Given the description of an element on the screen output the (x, y) to click on. 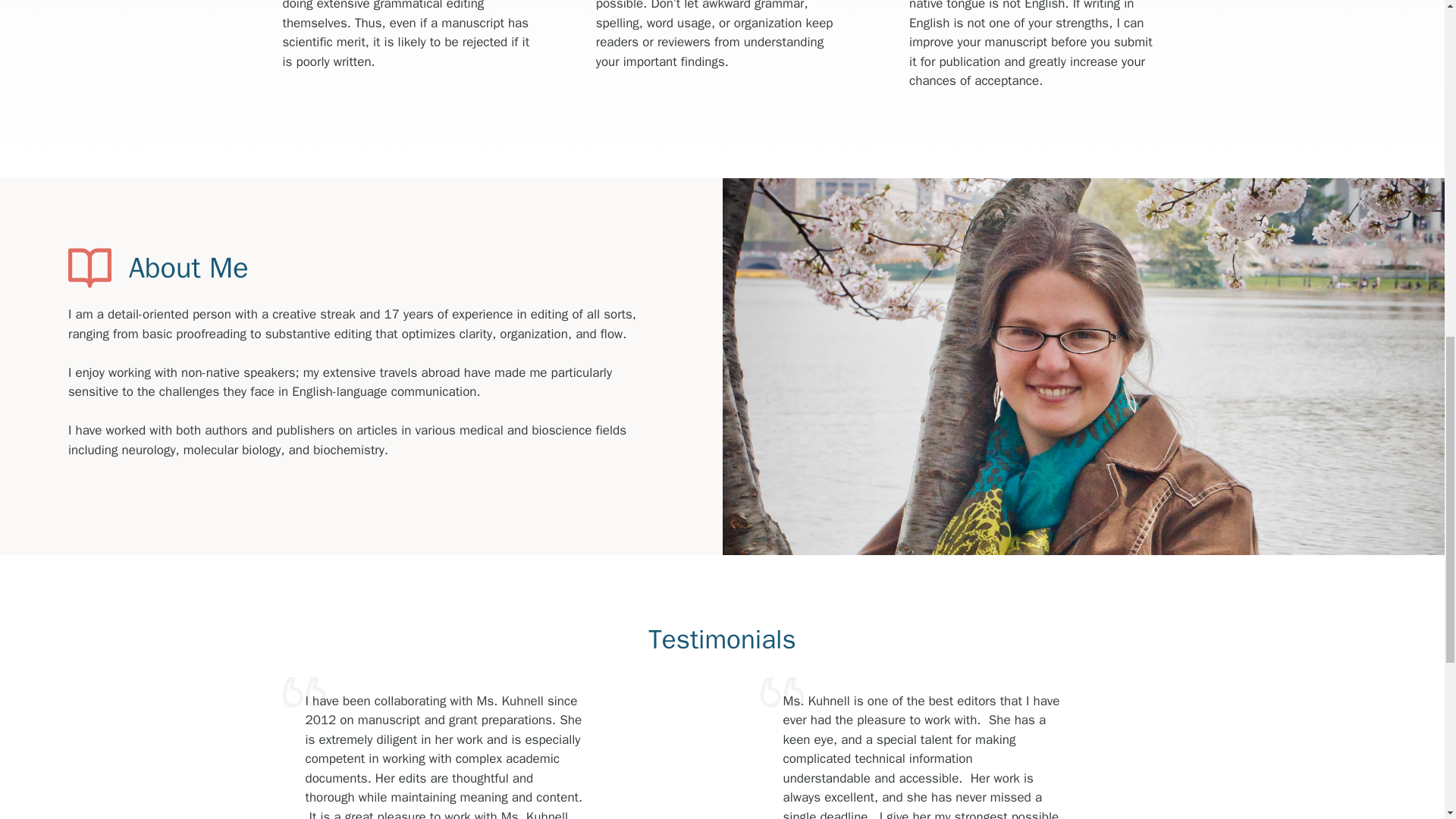
Scroll back to top (1406, 720)
